Given the description of an element on the screen output the (x, y) to click on. 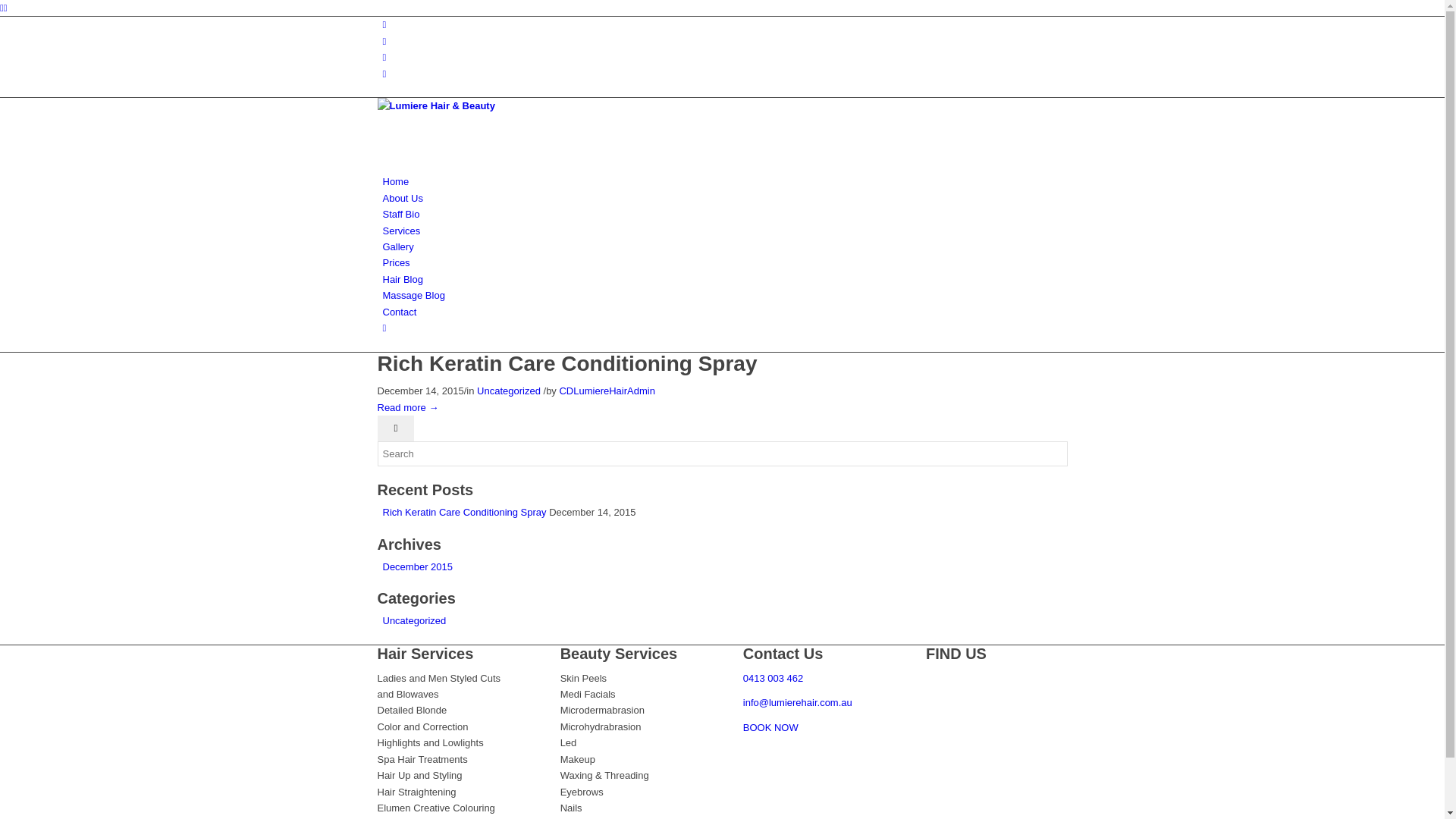
Massage Blog Element type: text (413, 295)
Home Element type: text (395, 181)
info@lumierehair.com.au Element type: text (797, 702)
CDLumiereHairAdmin Element type: text (606, 390)
Rich Keratin Care Conditioning Spray Element type: text (464, 511)
Hair Blog Element type: text (402, 279)
Rich Keratin Care Conditioning Spray Element type: text (567, 363)
Services Element type: text (401, 229)
December 2015 Element type: text (417, 566)
Gplus Element type: hover (383, 41)
About Us Element type: text (402, 197)
BOOK NOW Element type: text (770, 727)
0413 003 462 Element type: text (773, 678)
Staff Bio Element type: text (400, 213)
Prices Element type: text (395, 262)
Pinterest Element type: hover (383, 56)
Contact Element type: text (399, 311)
Uncategorized Element type: text (413, 620)
Gallery Element type: text (397, 246)
Uncategorized Element type: text (508, 390)
Mail Element type: hover (383, 73)
Facebook Element type: hover (383, 24)
